Given the description of an element on the screen output the (x, y) to click on. 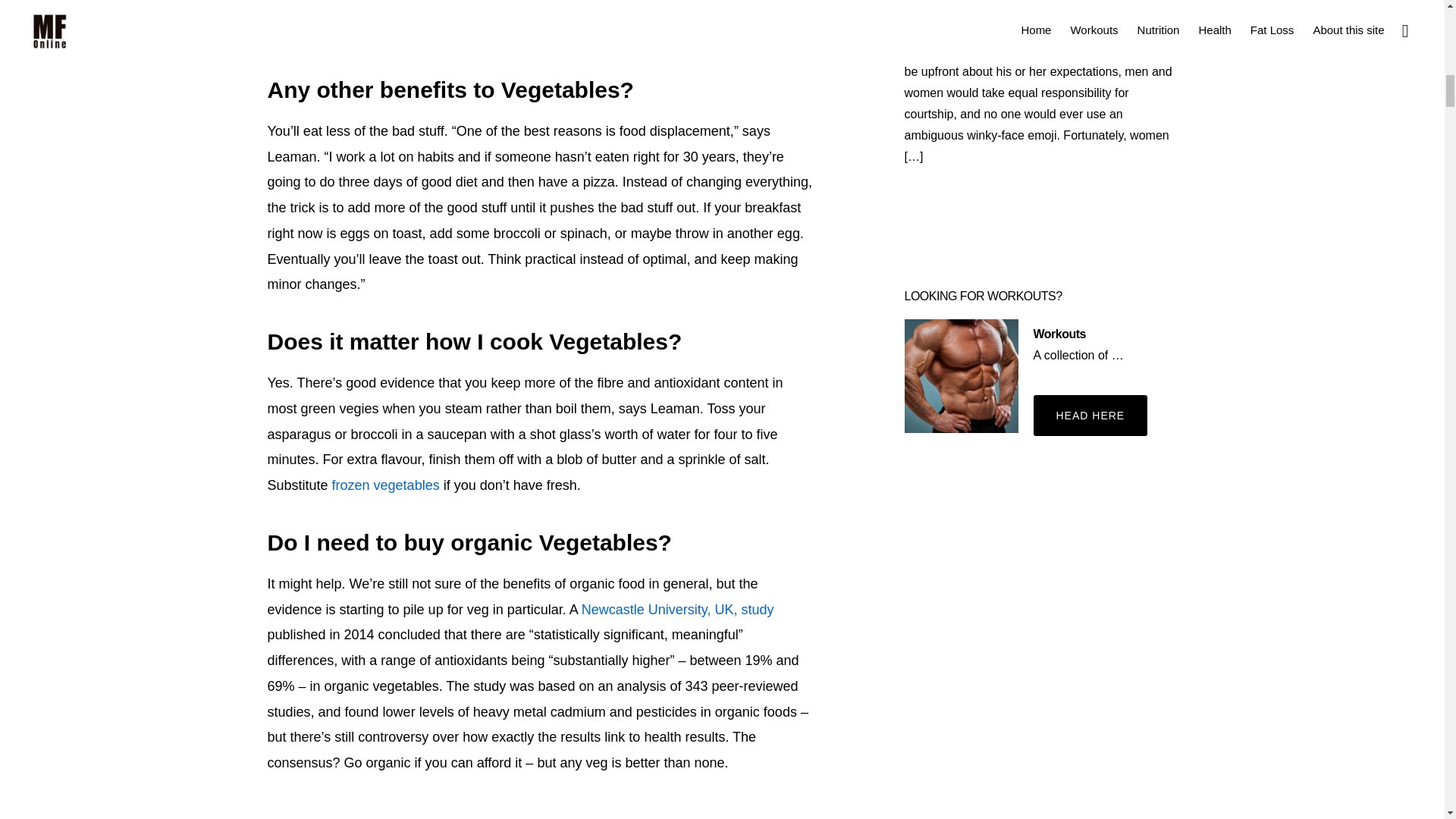
Newcastle University, UK, study (677, 609)
frozen vegetables (385, 485)
